Given the description of an element on the screen output the (x, y) to click on. 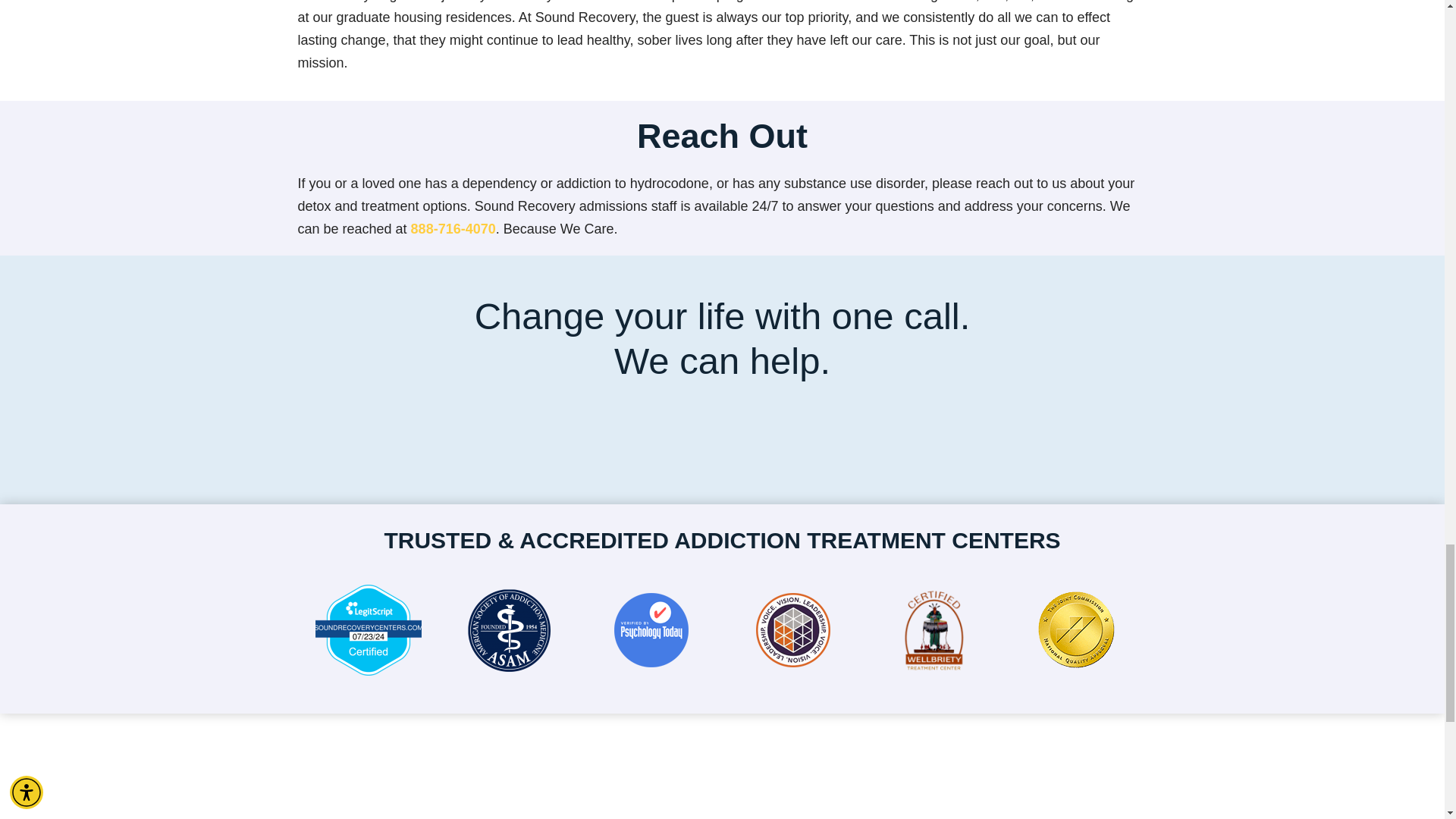
Verify LegitScript Approval (368, 670)
